Given the description of an element on the screen output the (x, y) to click on. 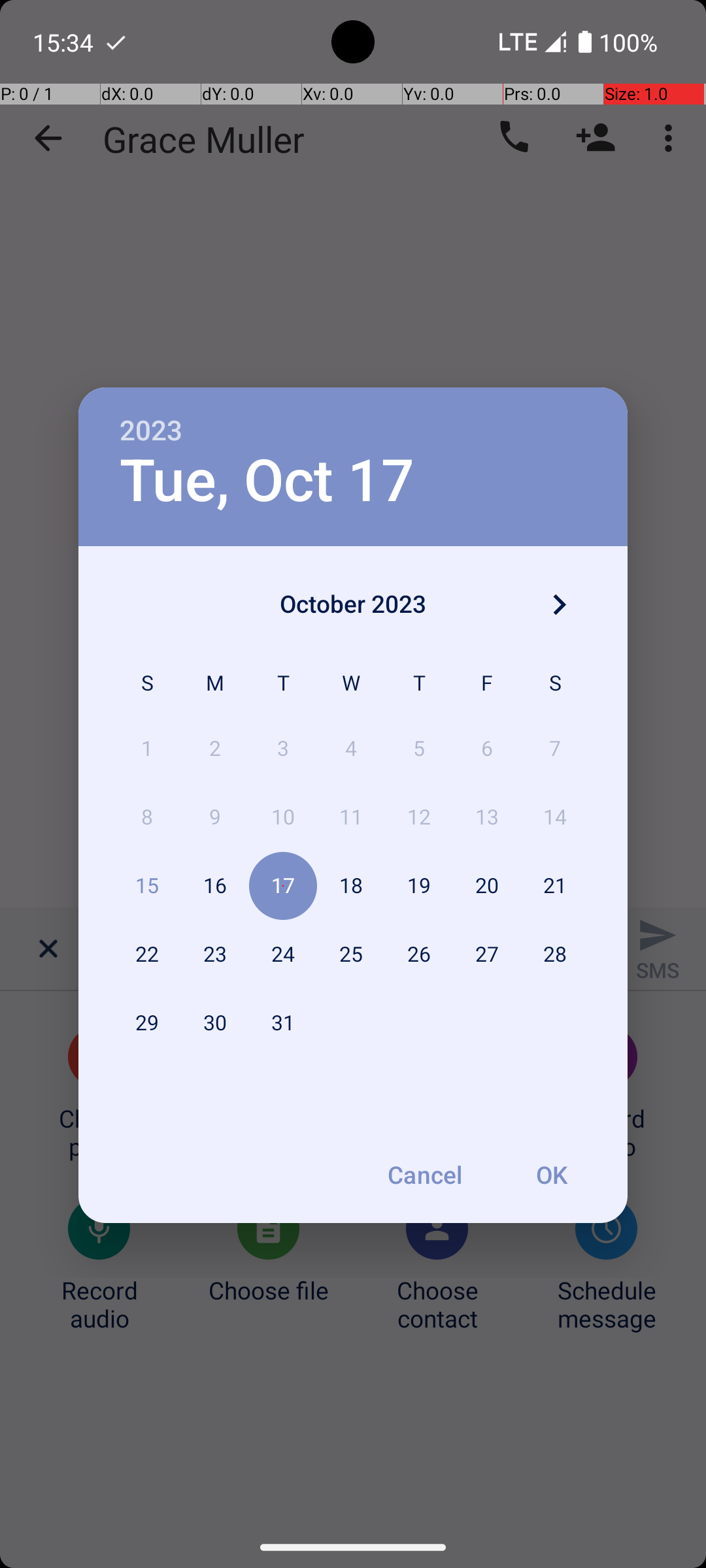
Tue, Oct 17 Element type: android.widget.TextView (267, 480)
